Given the description of an element on the screen output the (x, y) to click on. 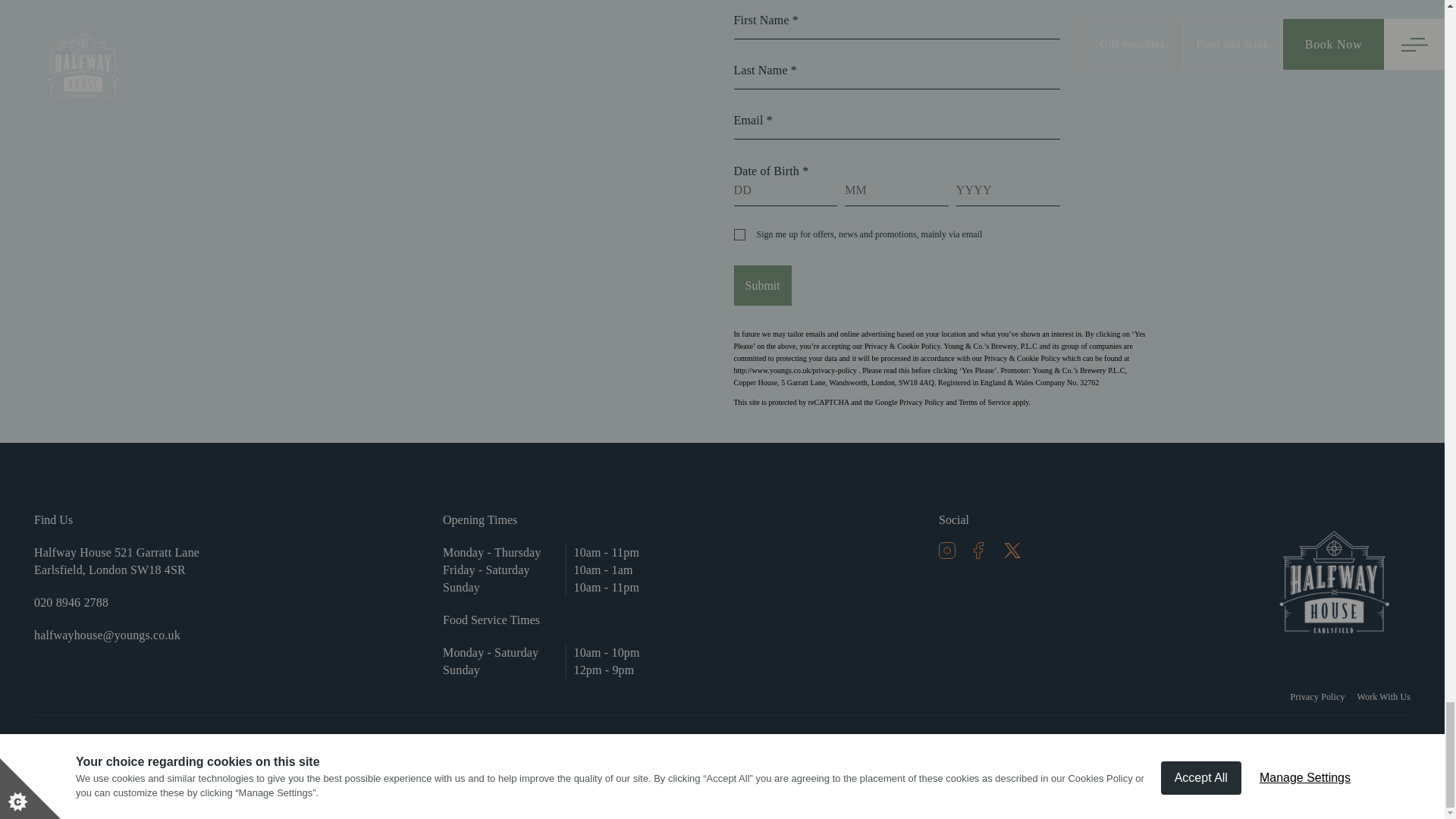
Propeller (1392, 746)
marketing-consent (739, 234)
Privacy Policy (1317, 696)
Submit (762, 285)
Work With Us (1383, 696)
Opening Times (573, 527)
Privacy Policy (921, 402)
Find Us (120, 519)
Terms of Service (984, 402)
